Given the description of an element on the screen output the (x, y) to click on. 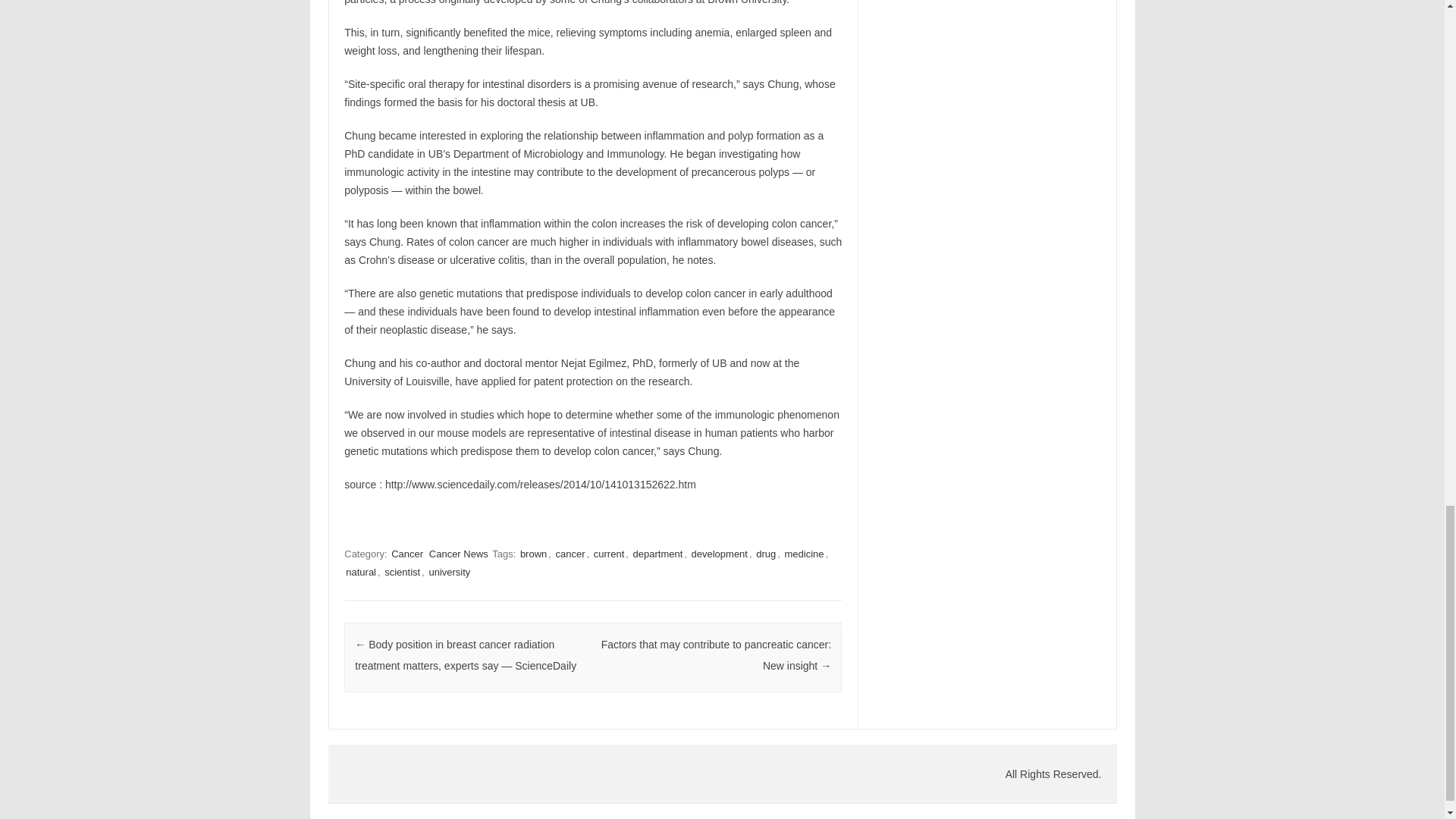
department (657, 554)
scientist (402, 572)
medicine (804, 554)
development (719, 554)
current (609, 554)
university (448, 572)
cancer (570, 554)
drug (765, 554)
Cancer (407, 554)
brown (533, 554)
Cancer News (458, 554)
natural (360, 572)
